Given the description of an element on the screen output the (x, y) to click on. 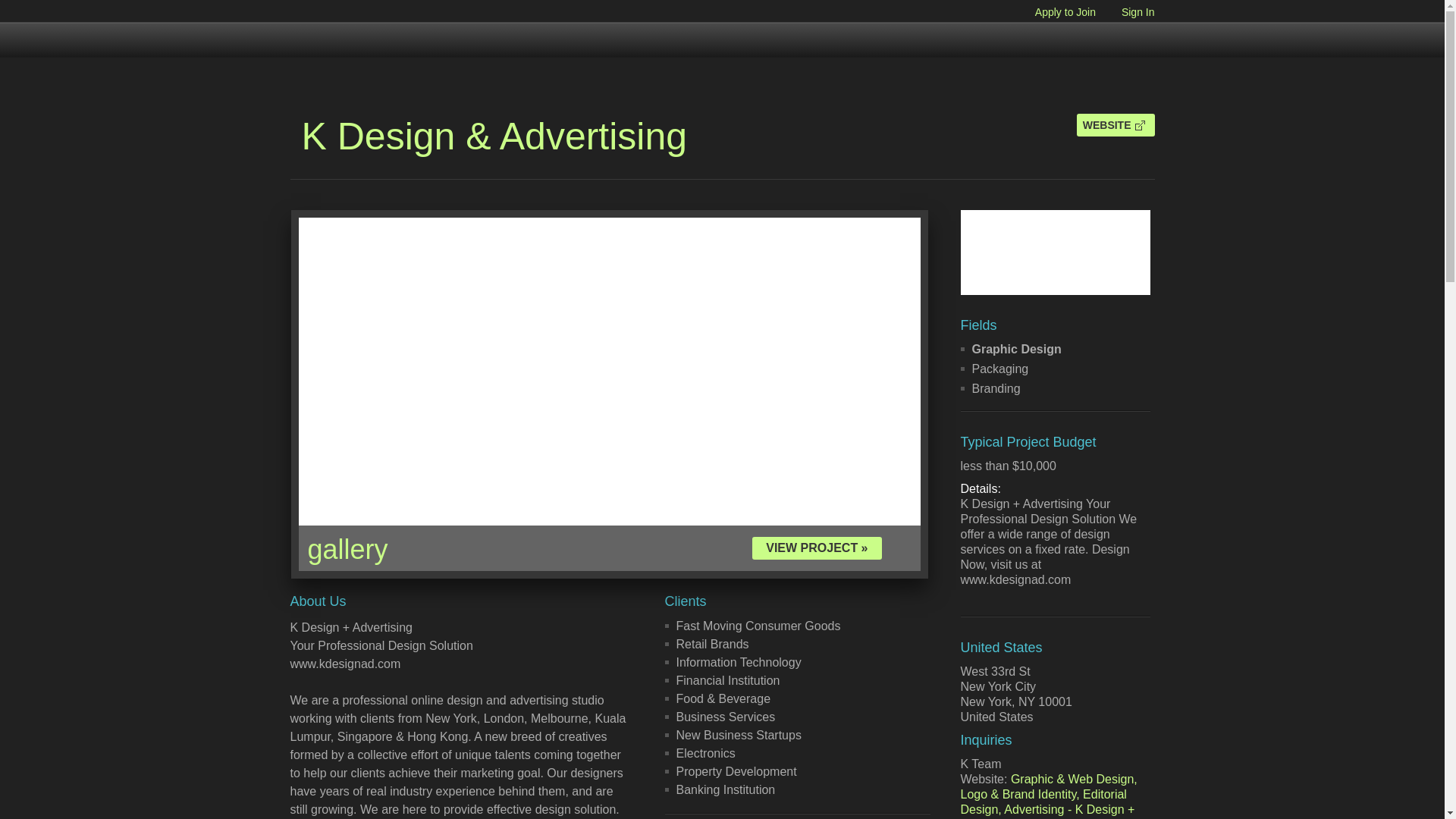
Apply to Join (1053, 11)
Sign In (1126, 11)
WEBSITE (1115, 124)
